Given the description of an element on the screen output the (x, y) to click on. 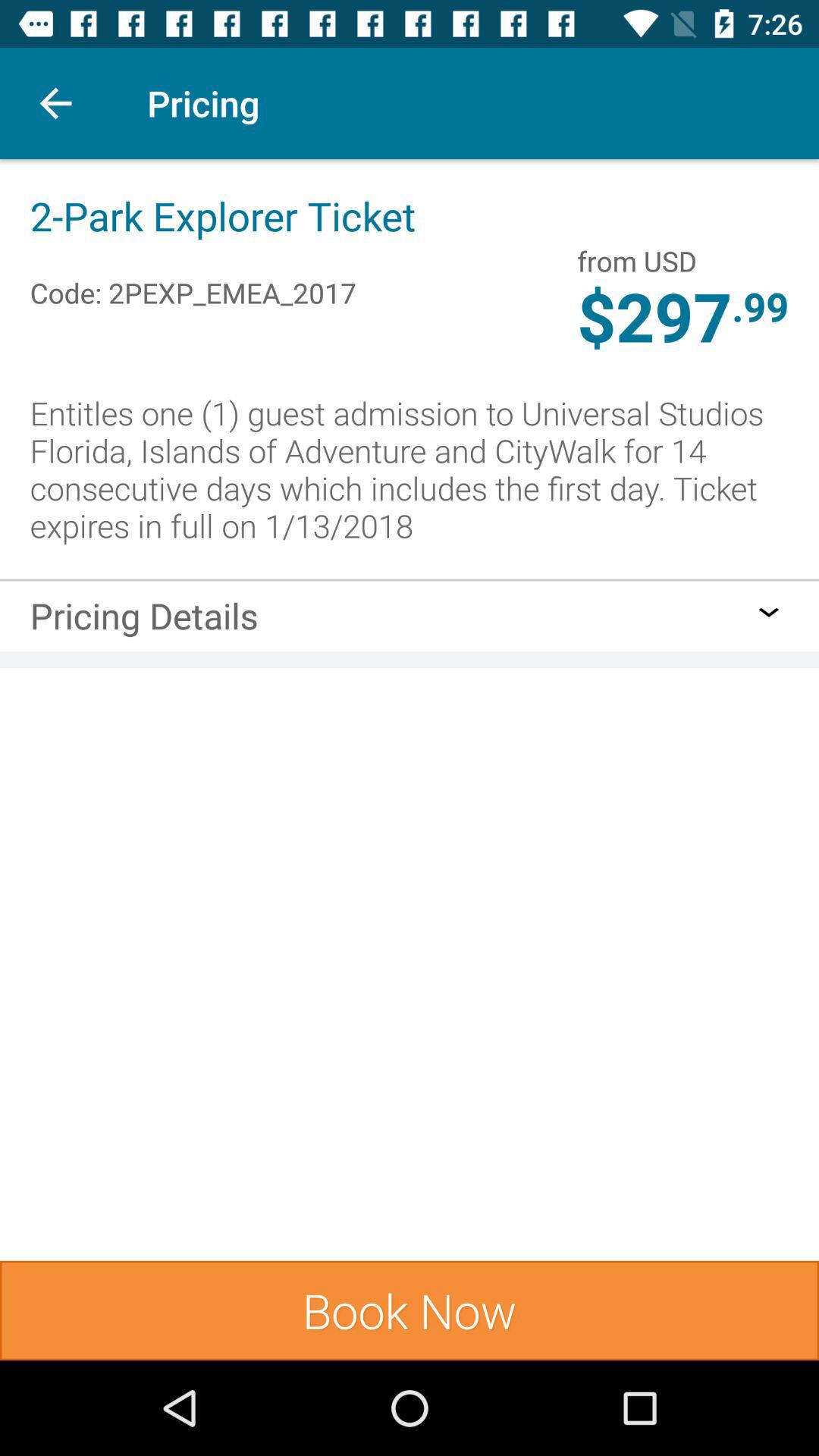
open icon next to 2 park explorer (636, 260)
